Given the description of an element on the screen output the (x, y) to click on. 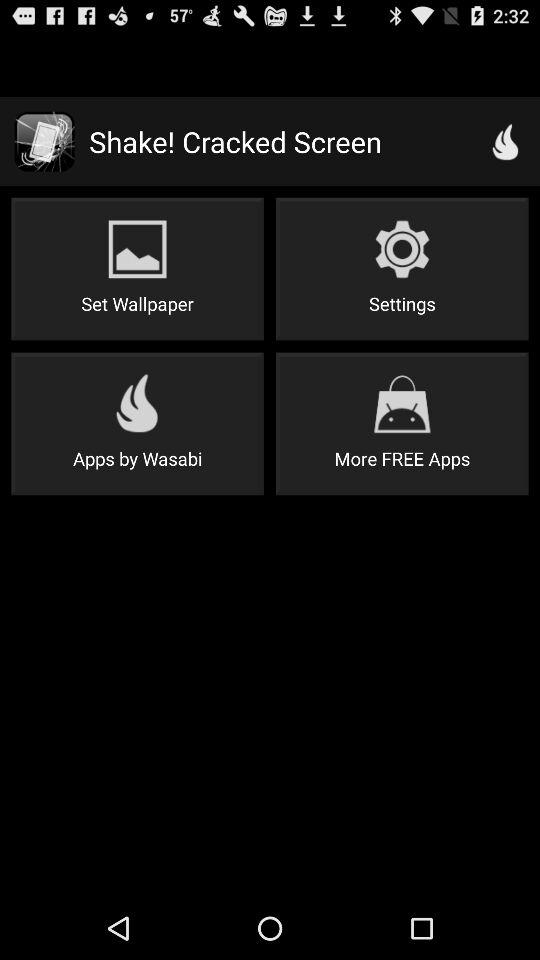
turn on icon above the more free apps item (402, 268)
